Given the description of an element on the screen output the (x, y) to click on. 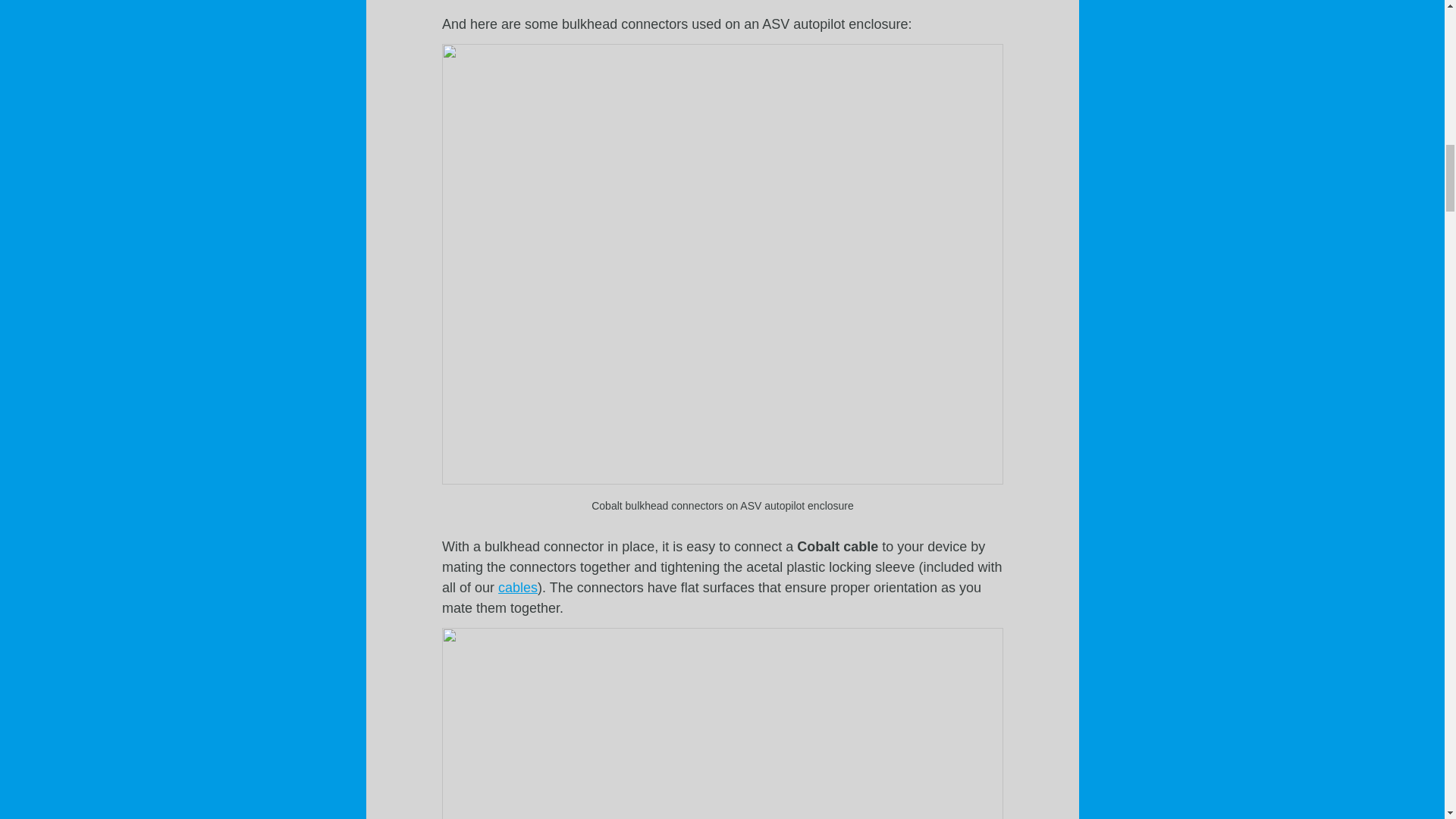
cables (517, 587)
